Given the description of an element on the screen output the (x, y) to click on. 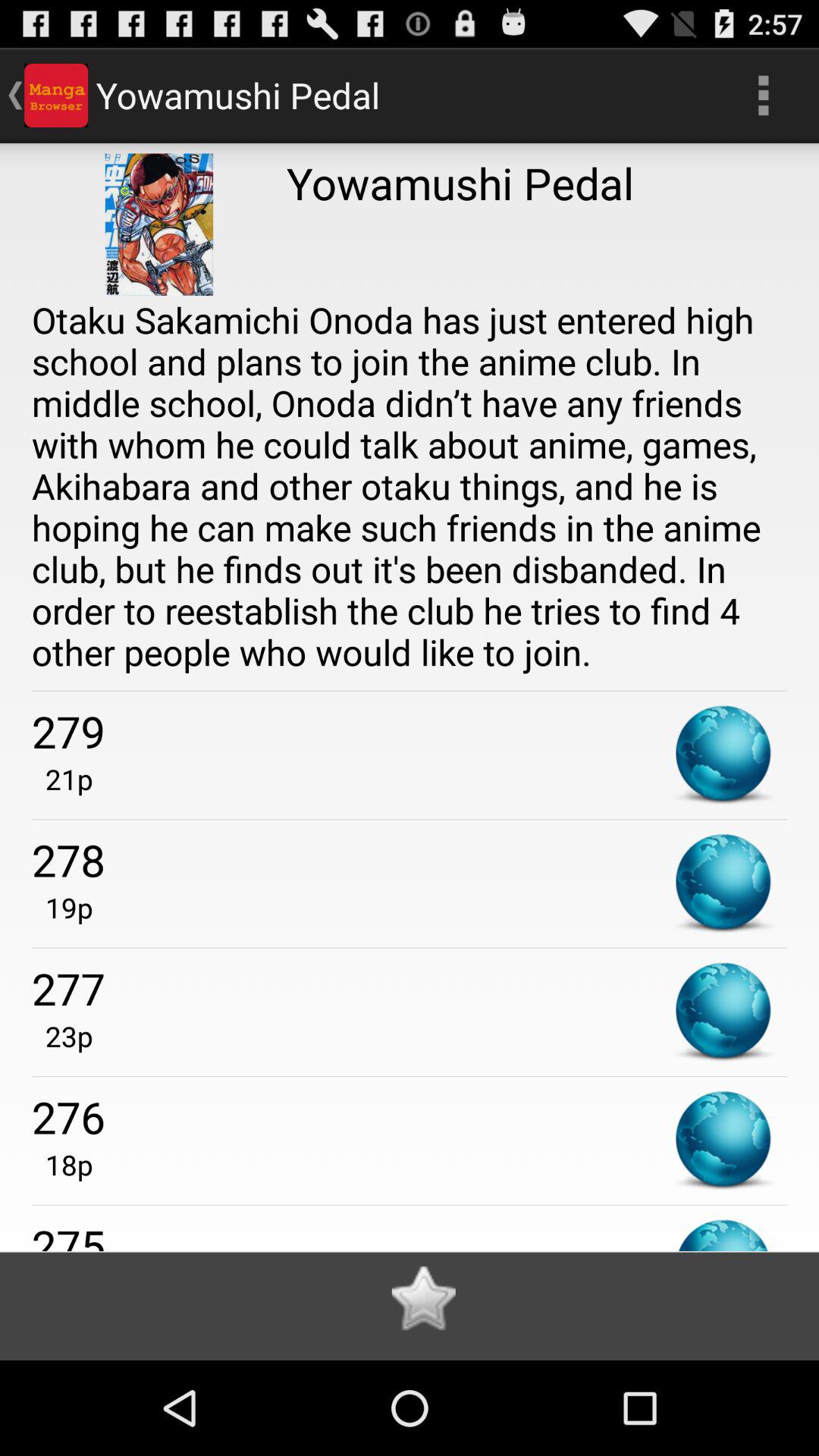
tap otaku sakamichi onoda app (409, 485)
